Given the description of an element on the screen output the (x, y) to click on. 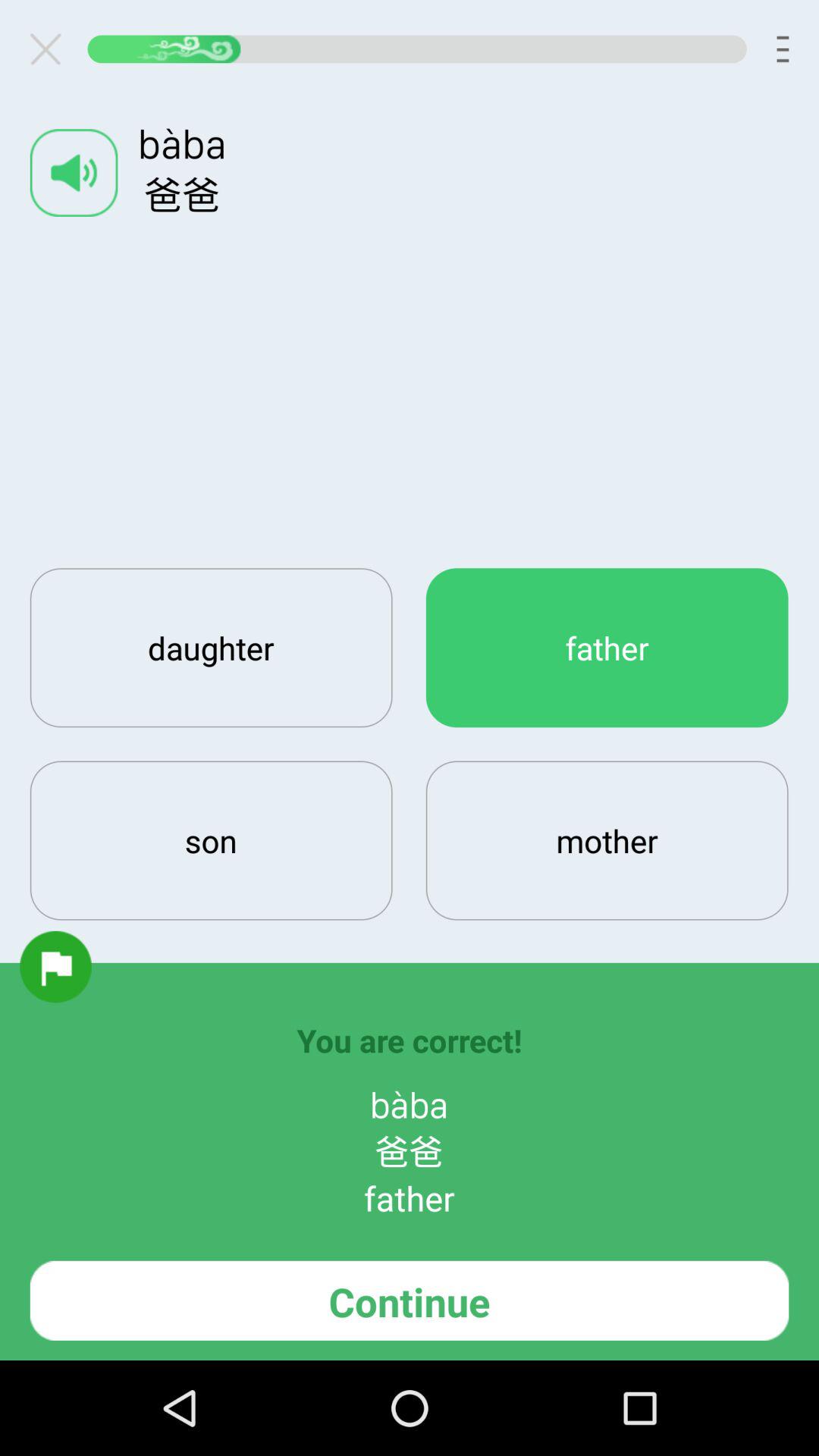
report item (55, 966)
